Given the description of an element on the screen output the (x, y) to click on. 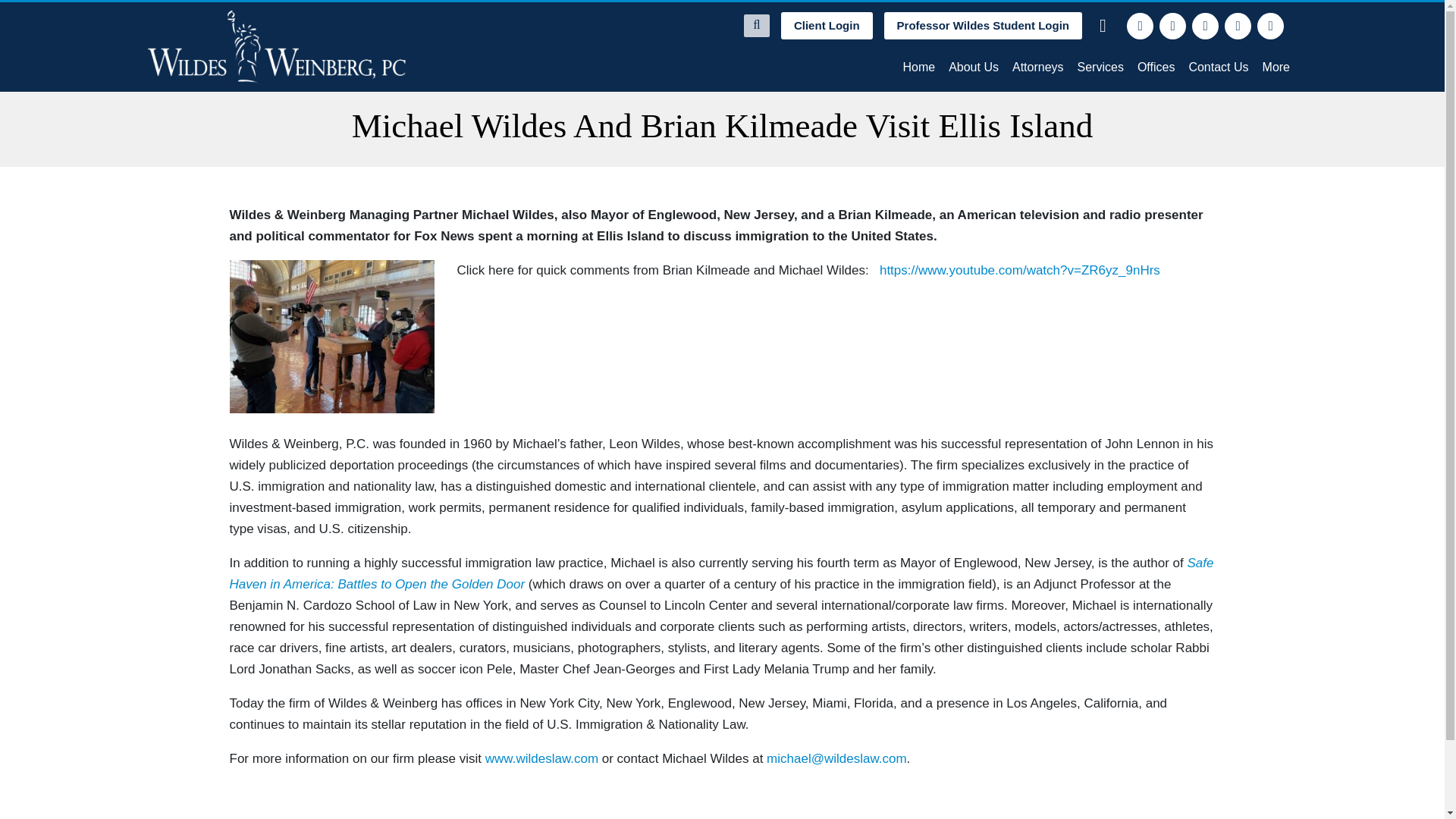
twitter (1172, 26)
instagram (1237, 26)
About Us (974, 67)
facebook (1139, 26)
Professor Wildes Student Login (982, 25)
youtube (1270, 26)
Services (1100, 67)
Attorneys (1038, 67)
Home (918, 67)
linkedin (1205, 26)
Client Login (826, 25)
